Given the description of an element on the screen output the (x, y) to click on. 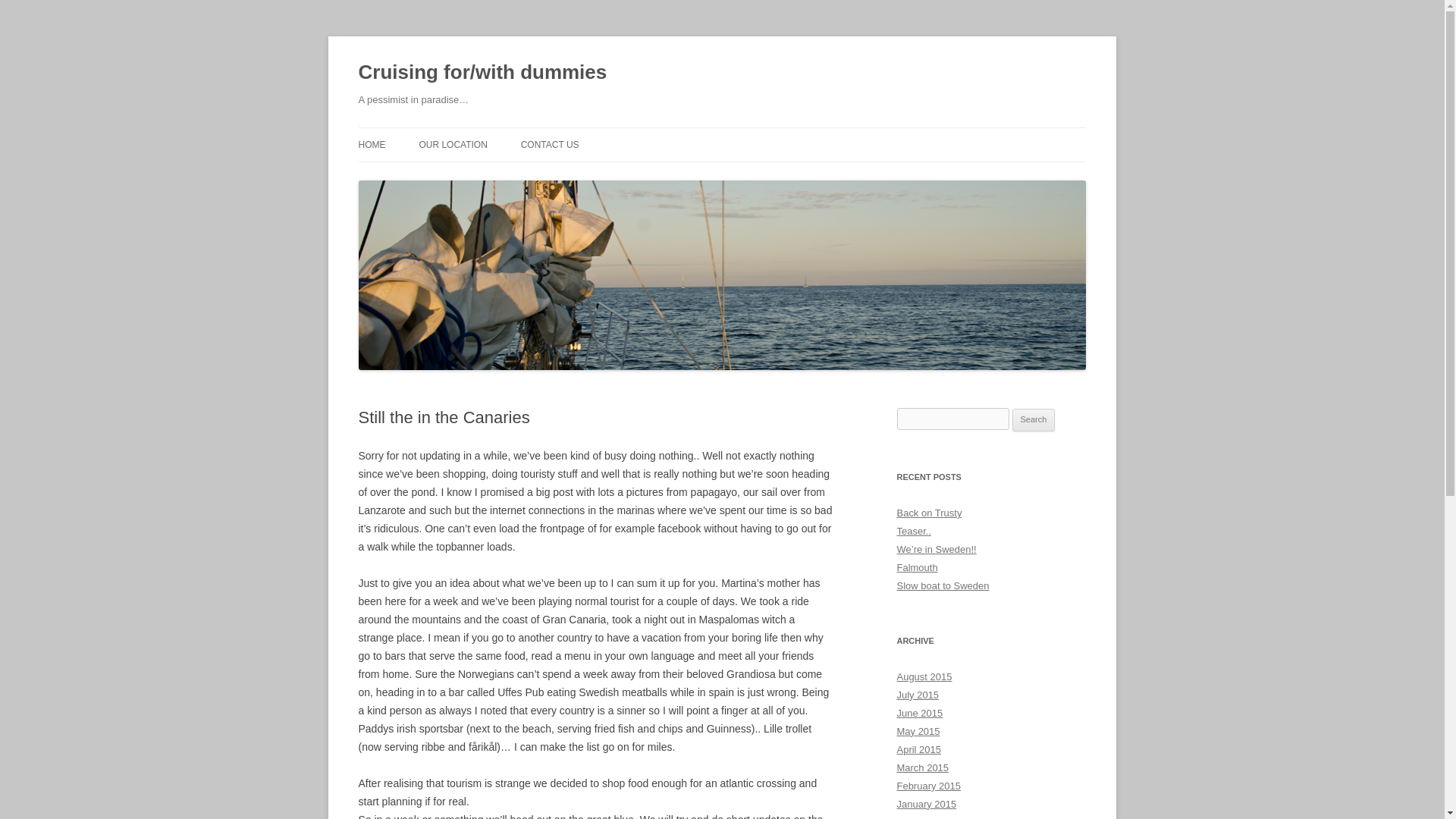
March 2015 (922, 767)
April 2015 (918, 749)
CONTACT US (550, 144)
December 2014 (931, 817)
May 2015 (917, 731)
August 2015 (924, 676)
Search (1033, 419)
Back on Trusty (928, 512)
OUR LOCATION (452, 144)
